Given the description of an element on the screen output the (x, y) to click on. 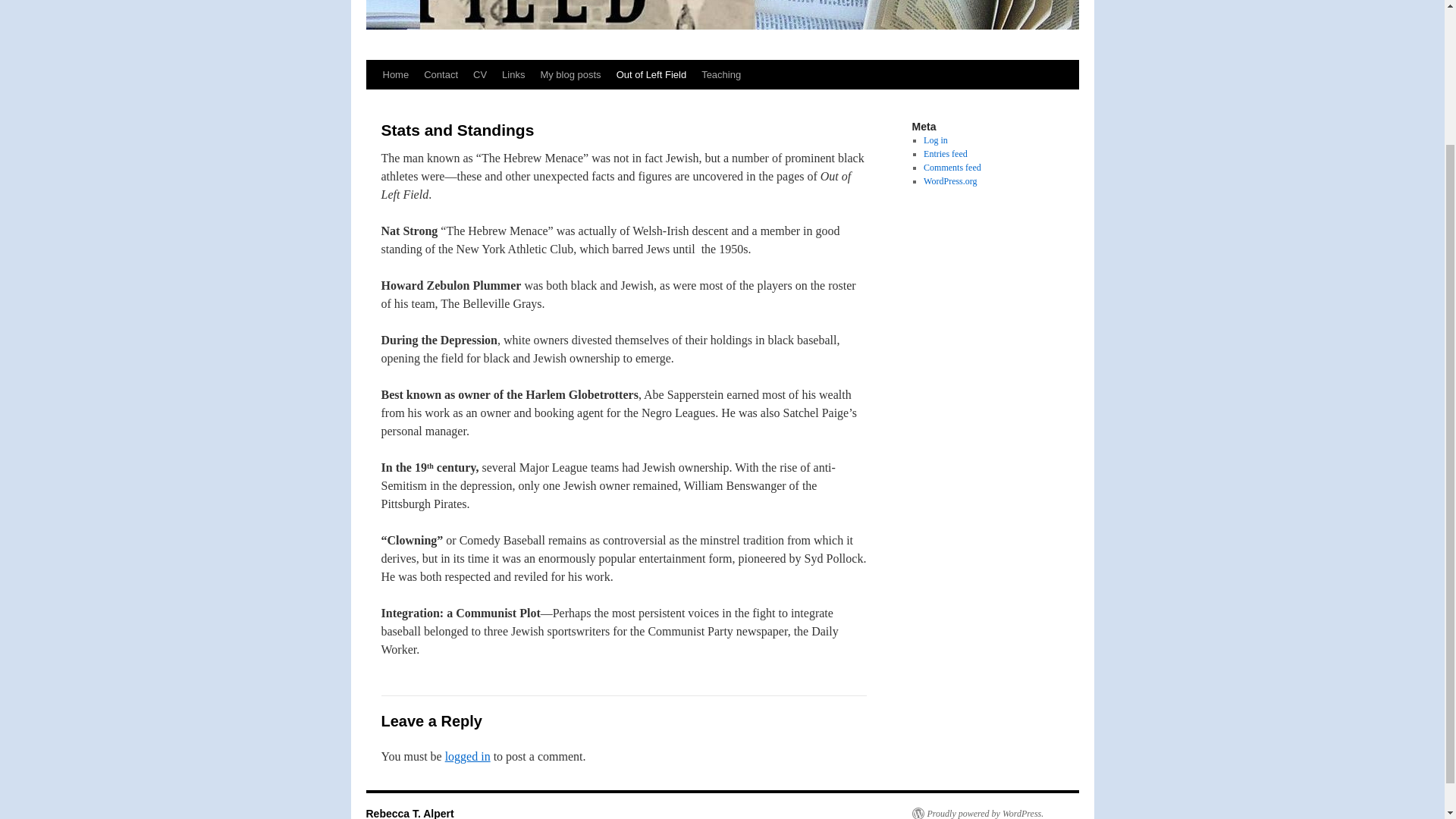
Out of Left Field (651, 74)
Links (513, 74)
My blog posts (570, 74)
CV (480, 74)
Entries feed (945, 153)
WordPress.org (949, 181)
Home (395, 74)
Comments feed (952, 167)
Log in (935, 140)
Teaching (721, 74)
